Given the description of an element on the screen output the (x, y) to click on. 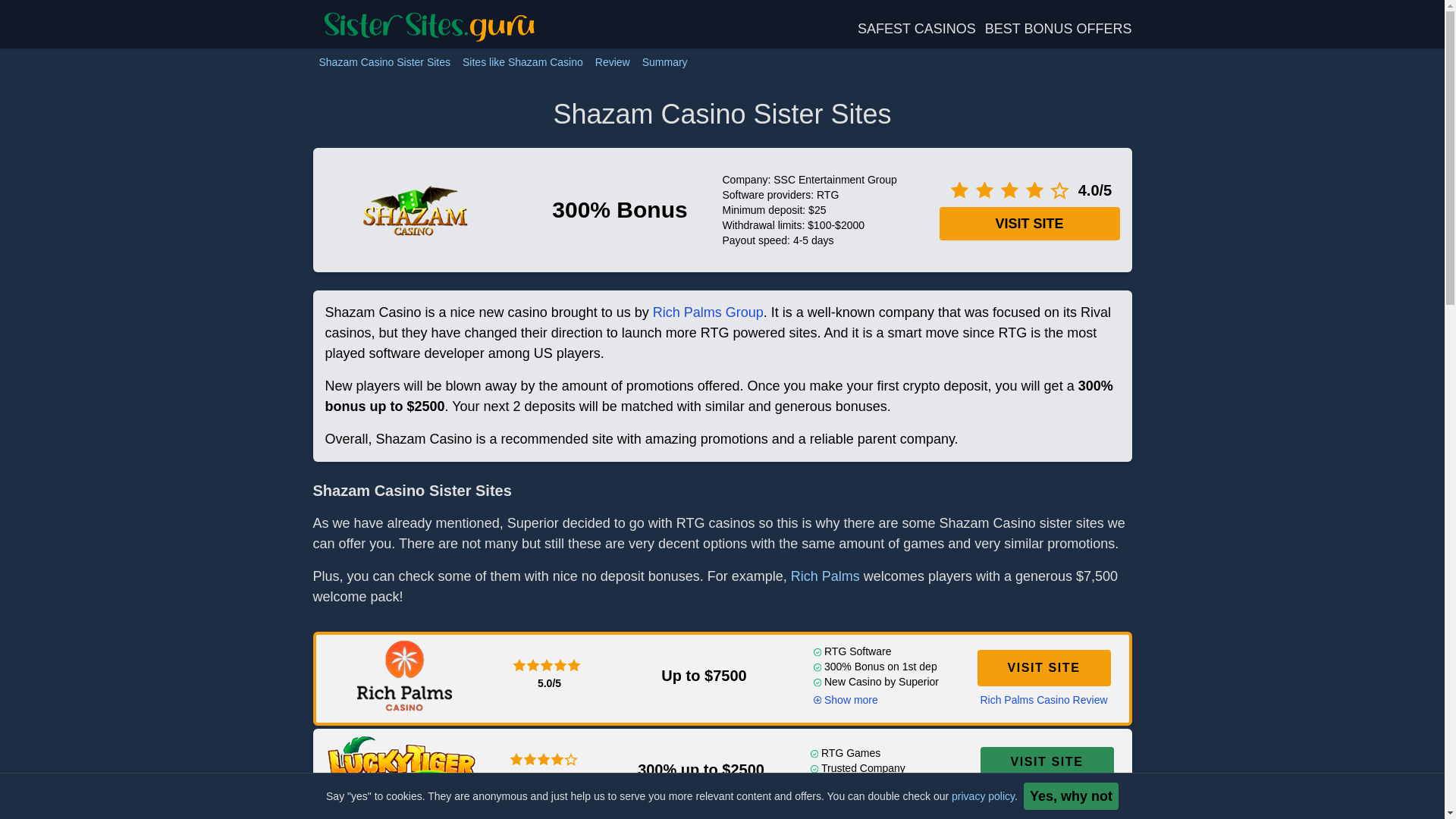
Summary (665, 61)
Show more (844, 699)
Shazam Casino Sister Sites (385, 61)
Lucky Tiger Review (1047, 790)
Review (612, 61)
Sites like Shazam Casino (523, 61)
BEST BONUS OFFERS (1058, 28)
VISIT SITE (1042, 668)
Rich Palms Group (707, 312)
Rich Palms Casino Review (1042, 699)
